Given the description of an element on the screen output the (x, y) to click on. 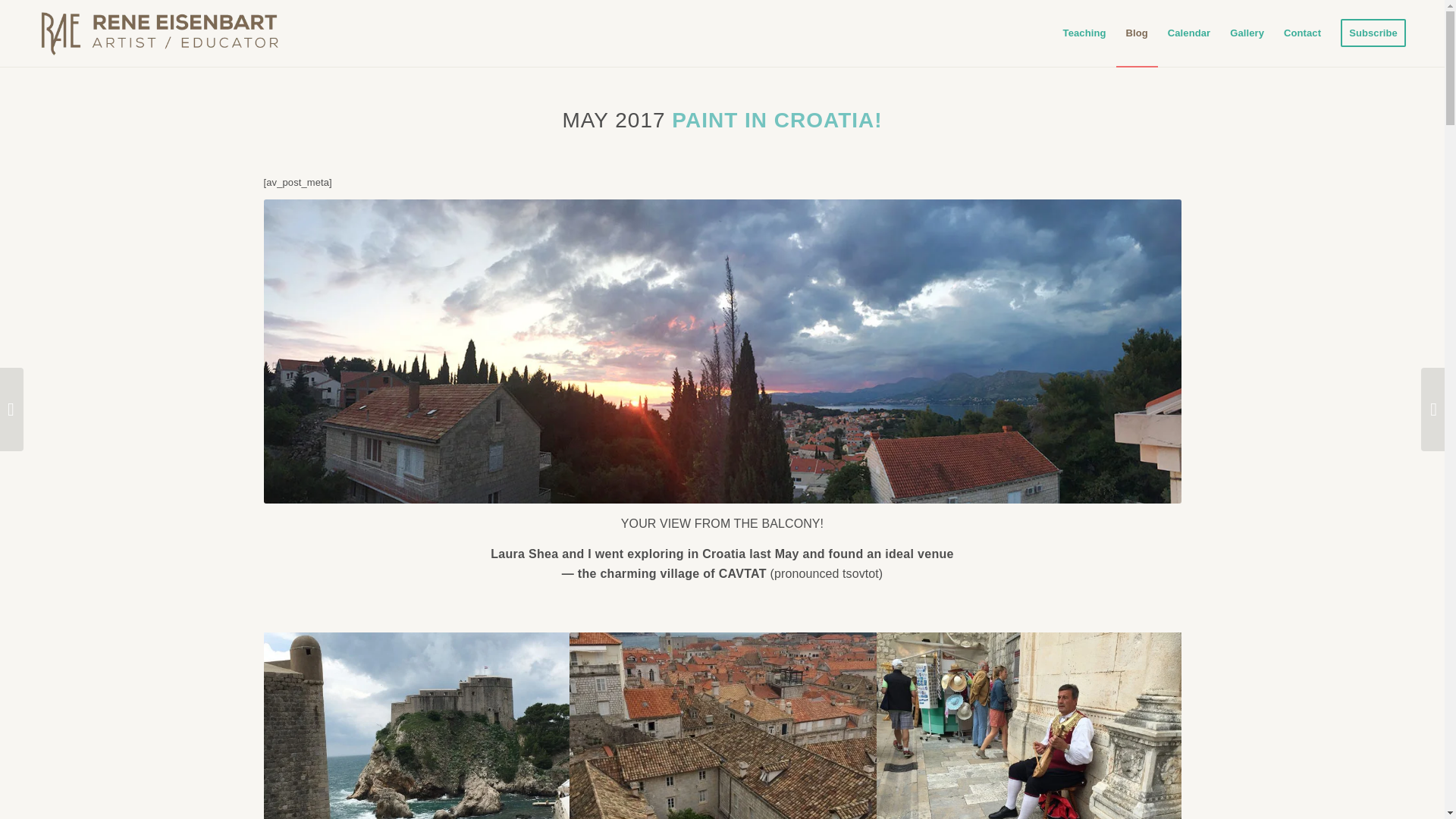
RAE-logo4-1 (160, 33)
Teaching (1084, 33)
Calendar (1188, 33)
Subscribe (1372, 33)
